Given the description of an element on the screen output the (x, y) to click on. 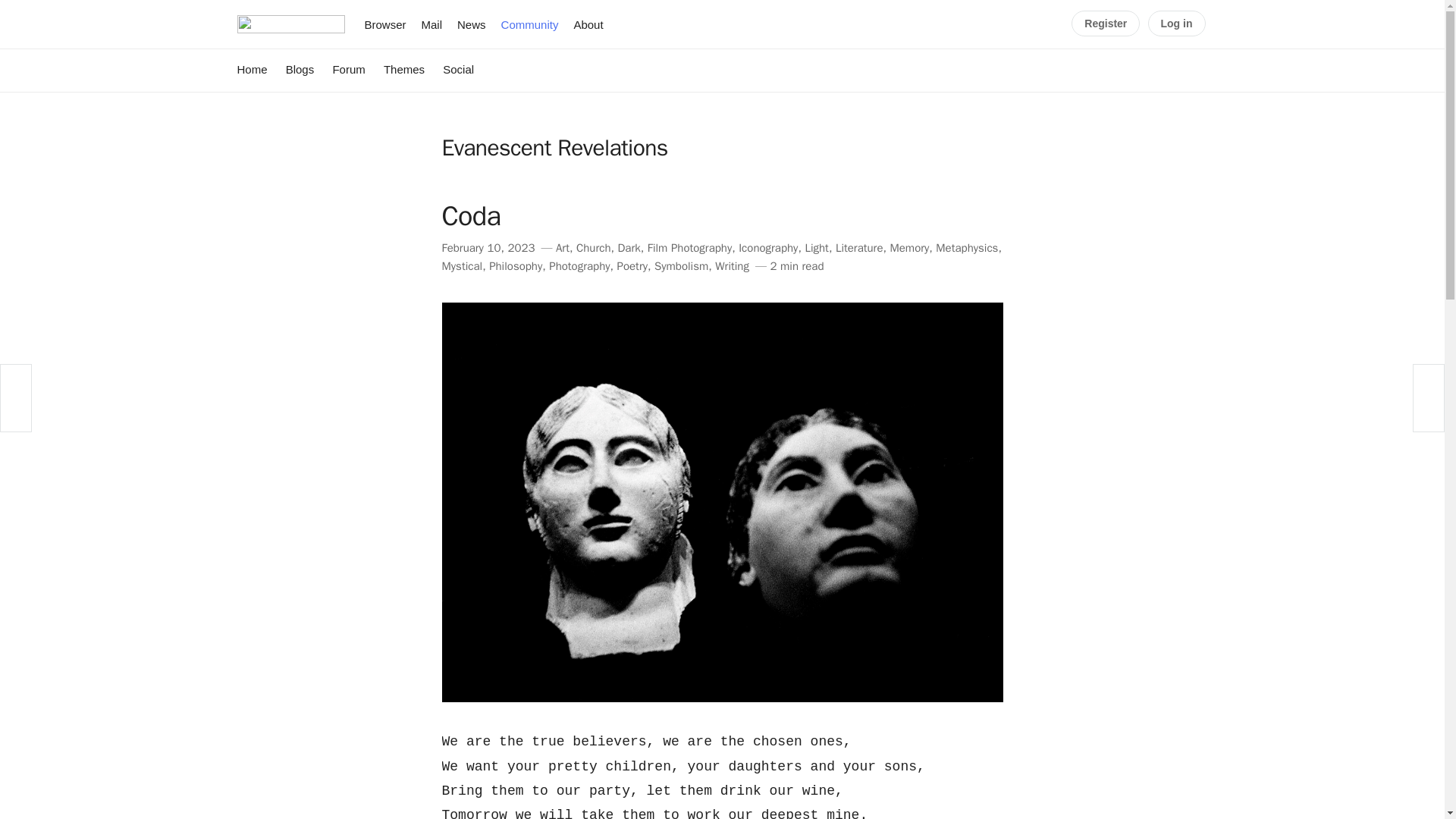
Film Photography (689, 247)
Memory (908, 247)
Photography (579, 265)
Evanescent Revelations (553, 146)
Symbolism (680, 265)
Light (816, 247)
Metaphysics (966, 247)
Mystical (461, 265)
Church (593, 247)
Literature (859, 247)
